Given the description of an element on the screen output the (x, y) to click on. 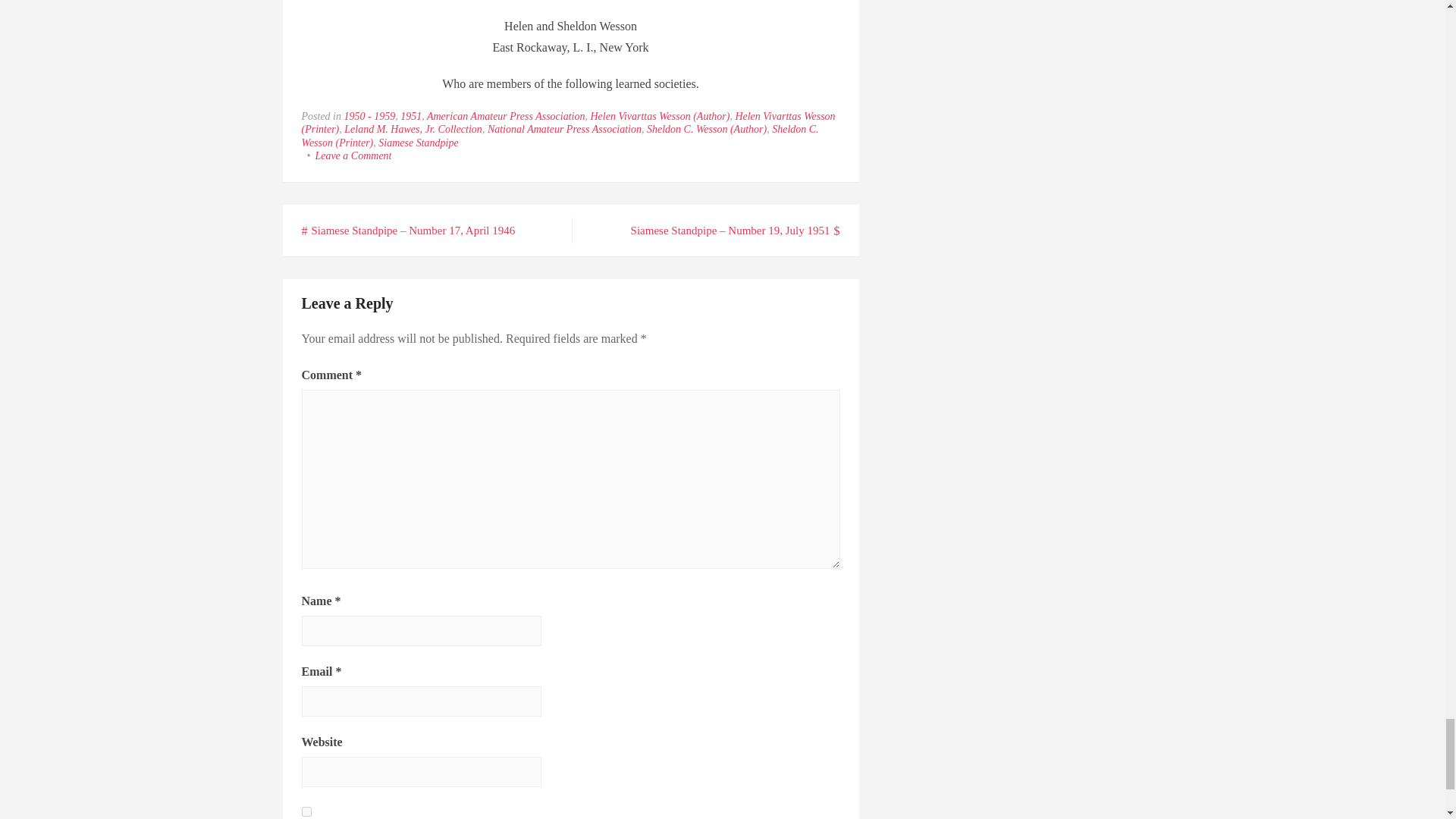
yes (306, 811)
